Given the description of an element on the screen output the (x, y) to click on. 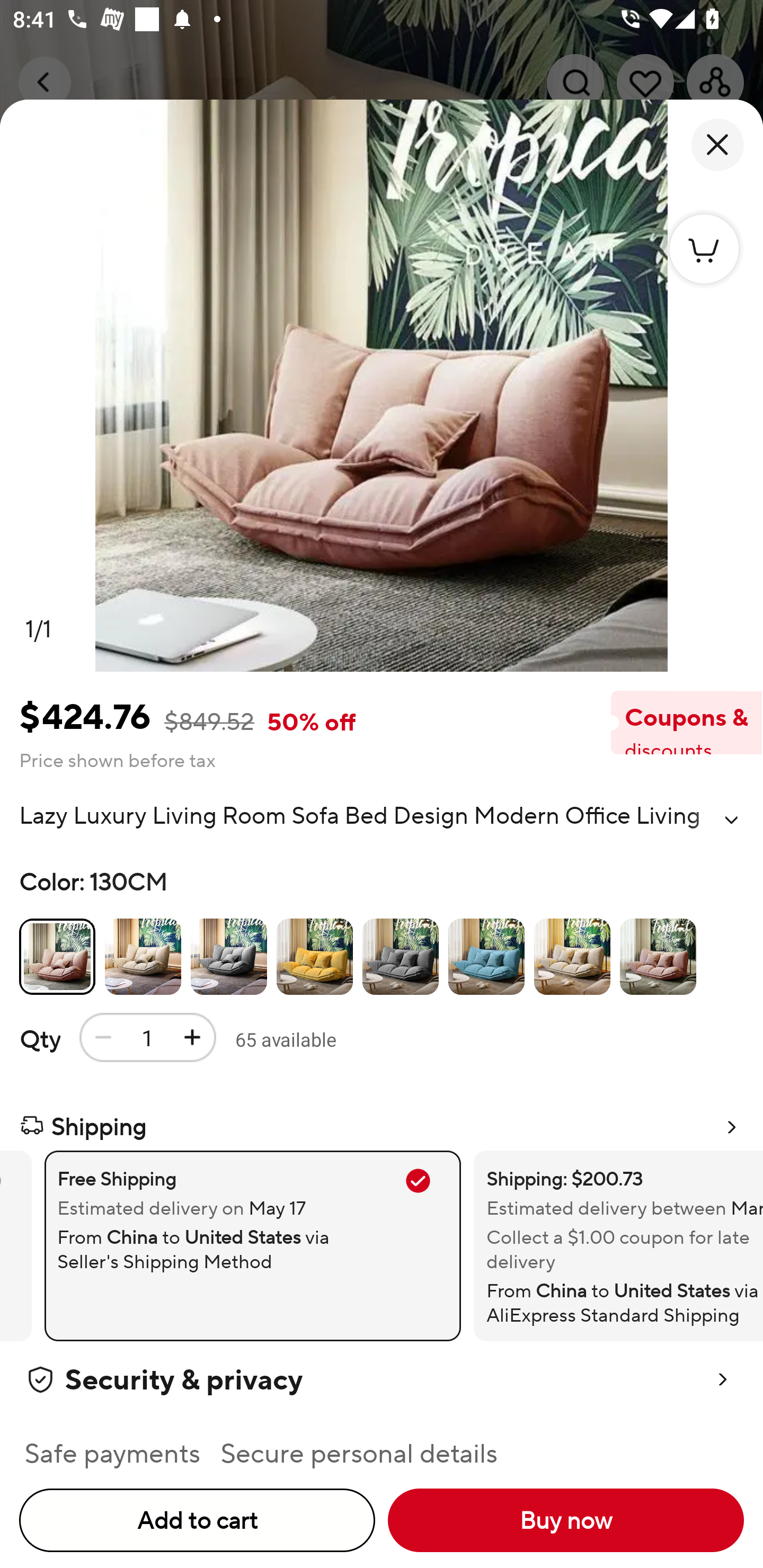
close  (717, 144)
 (730, 819)
Add to cart (197, 1520)
Buy now (565, 1520)
